Given the description of an element on the screen output the (x, y) to click on. 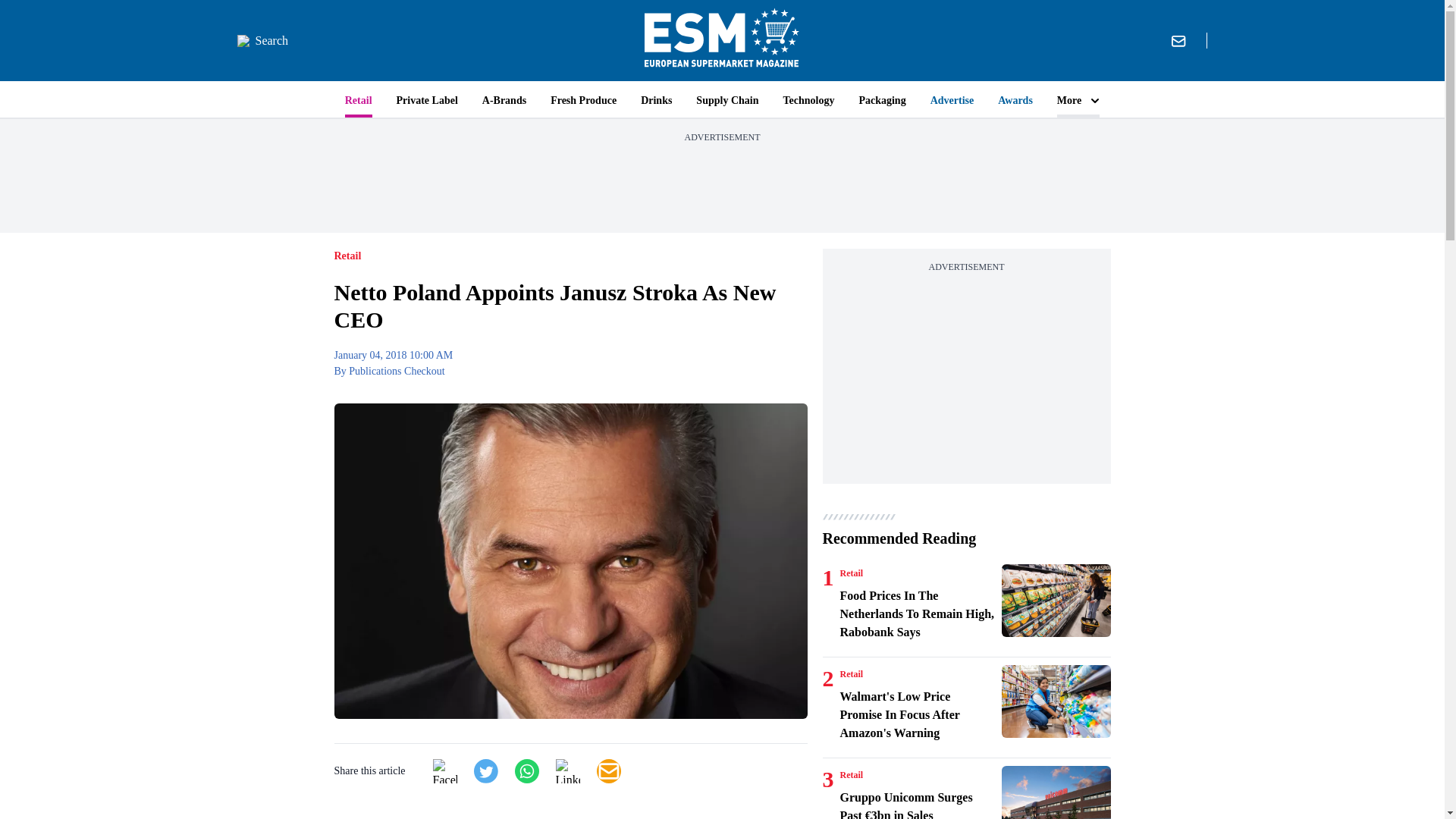
ESM (722, 40)
Search (261, 40)
Food Prices In The Netherlands To Remain High, Rabobank Says (1055, 600)
Food Prices In The Netherlands To Remain High, Rabobank Says (917, 614)
Walmart's Low Price Promise In Focus After Amazon's Warning (1055, 701)
Retail (851, 573)
Retail (851, 674)
Walmart's Low Price Promise In Focus After Amazon's Warning (917, 714)
